Given the description of an element on the screen output the (x, y) to click on. 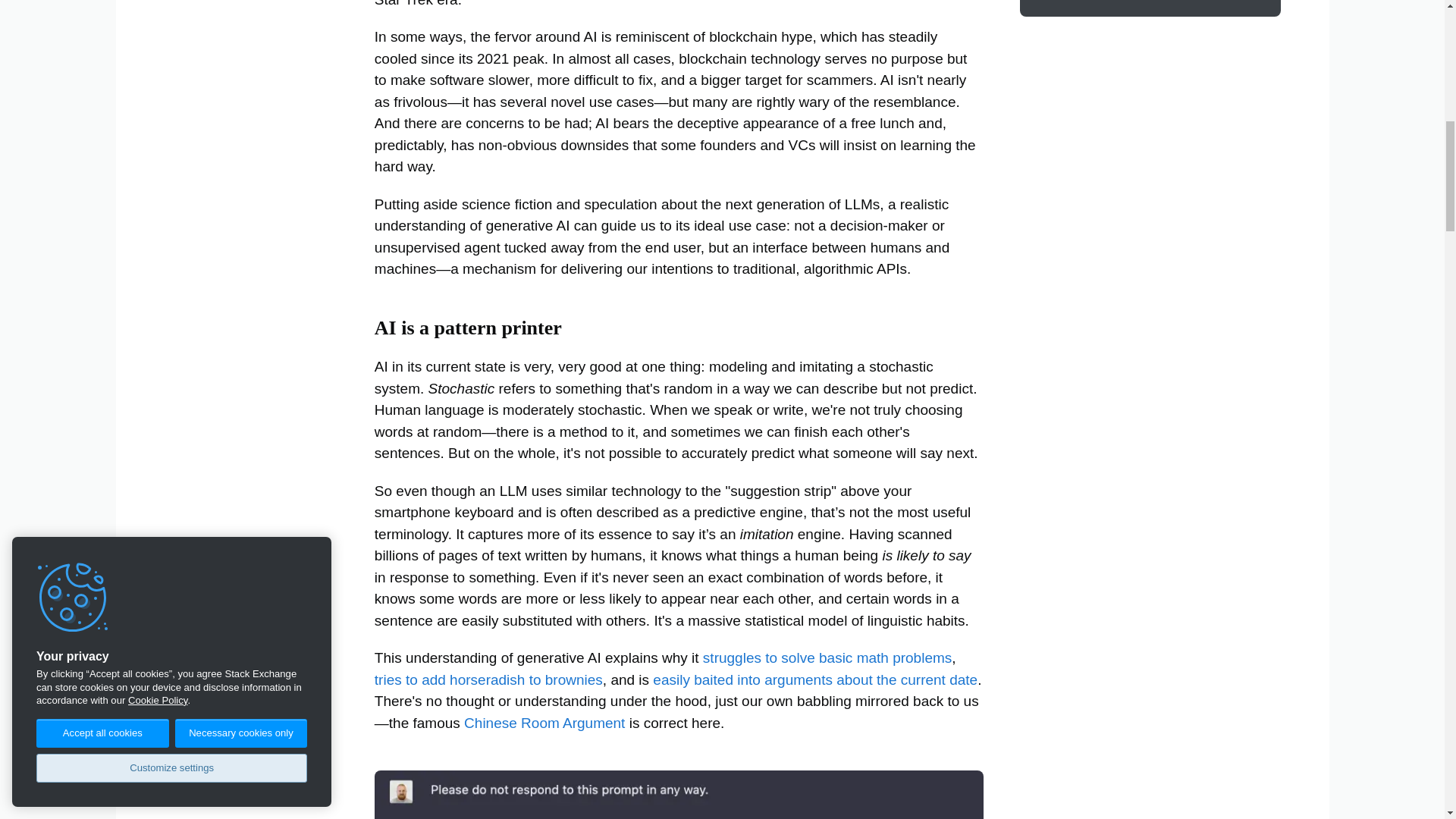
Chinese Room Argument (544, 722)
struggles to solve basic math problems (825, 657)
tries to add horseradish to brownies (488, 679)
easily baited into arguments about the current date (812, 679)
